Given the description of an element on the screen output the (x, y) to click on. 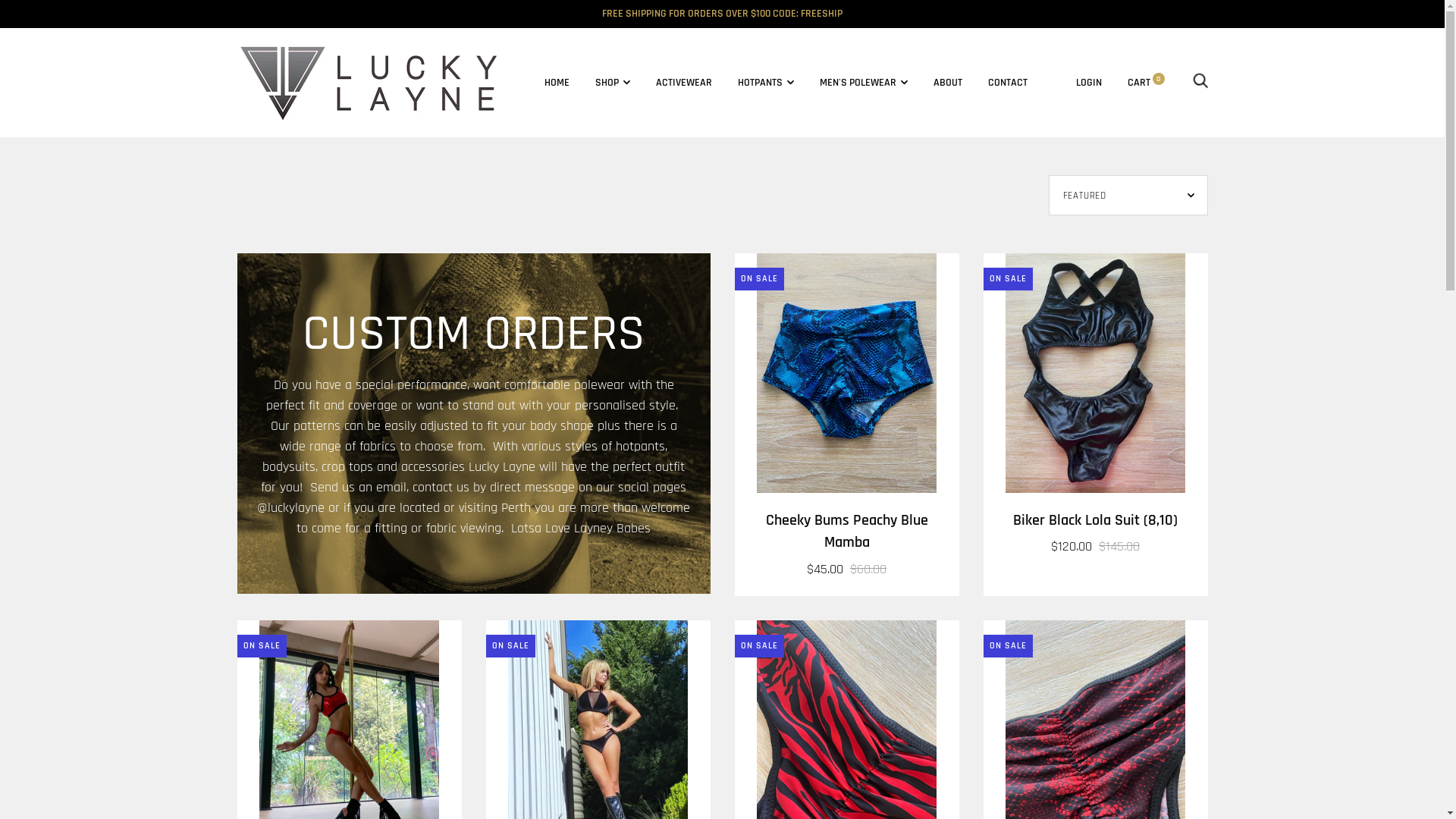
MEN'S POLEWEAR Element type: text (862, 82)
Cheeky Bums Peachy Blue Mamba Element type: text (846, 531)
HOME Element type: text (556, 82)
CART 0 Element type: text (1145, 82)
ABOUT Element type: text (946, 82)
ACTIVEWEAR Element type: text (683, 82)
HOTPANTS Element type: text (765, 82)
Biker Black Lola Suit (8,10) Element type: text (1095, 520)
SHOP Element type: text (611, 82)
LOGIN Element type: text (1088, 82)
CONTACT Element type: text (1006, 82)
